Given the description of an element on the screen output the (x, y) to click on. 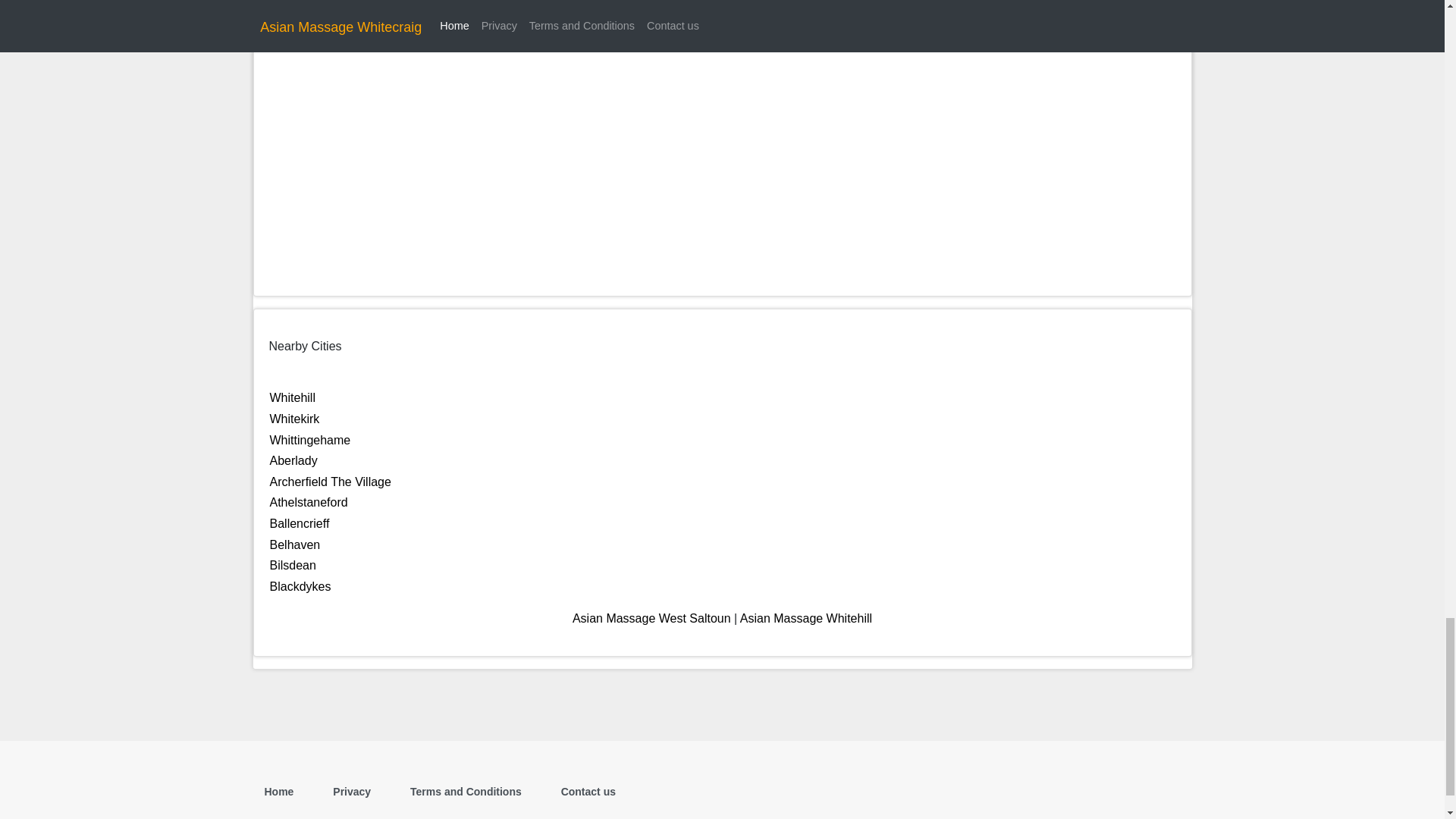
Whitekirk (294, 418)
Bilsdean (292, 564)
Whitehill (292, 397)
Asian Massage Whitehill (805, 617)
Blackdykes (300, 585)
Belhaven (294, 544)
Ballencrieff (299, 522)
Aberlady (293, 460)
Archerfield The Village (330, 481)
Asian Massage West Saltoun (651, 617)
